Given the description of an element on the screen output the (x, y) to click on. 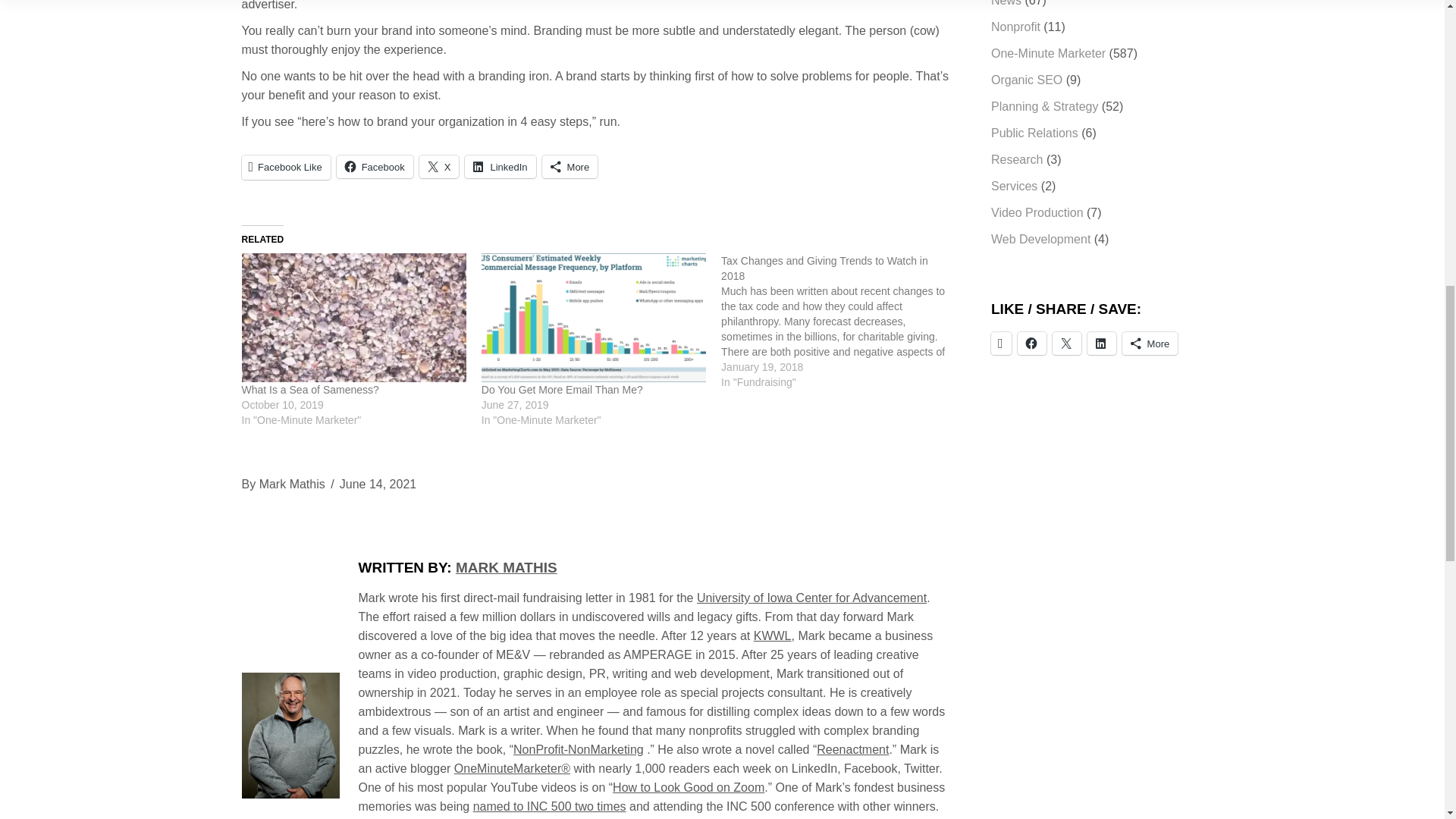
Do You Get More Email Than Me? (593, 317)
What Is a Sea of Sameness? (353, 317)
Click to share on Facebook (374, 165)
Click to share on X (439, 165)
What Is a Sea of Sameness? (309, 389)
Click to share on Facebook Like (285, 166)
Do You Get More Email Than Me? (562, 389)
Click to share on LinkedIn (499, 165)
